Given the description of an element on the screen output the (x, y) to click on. 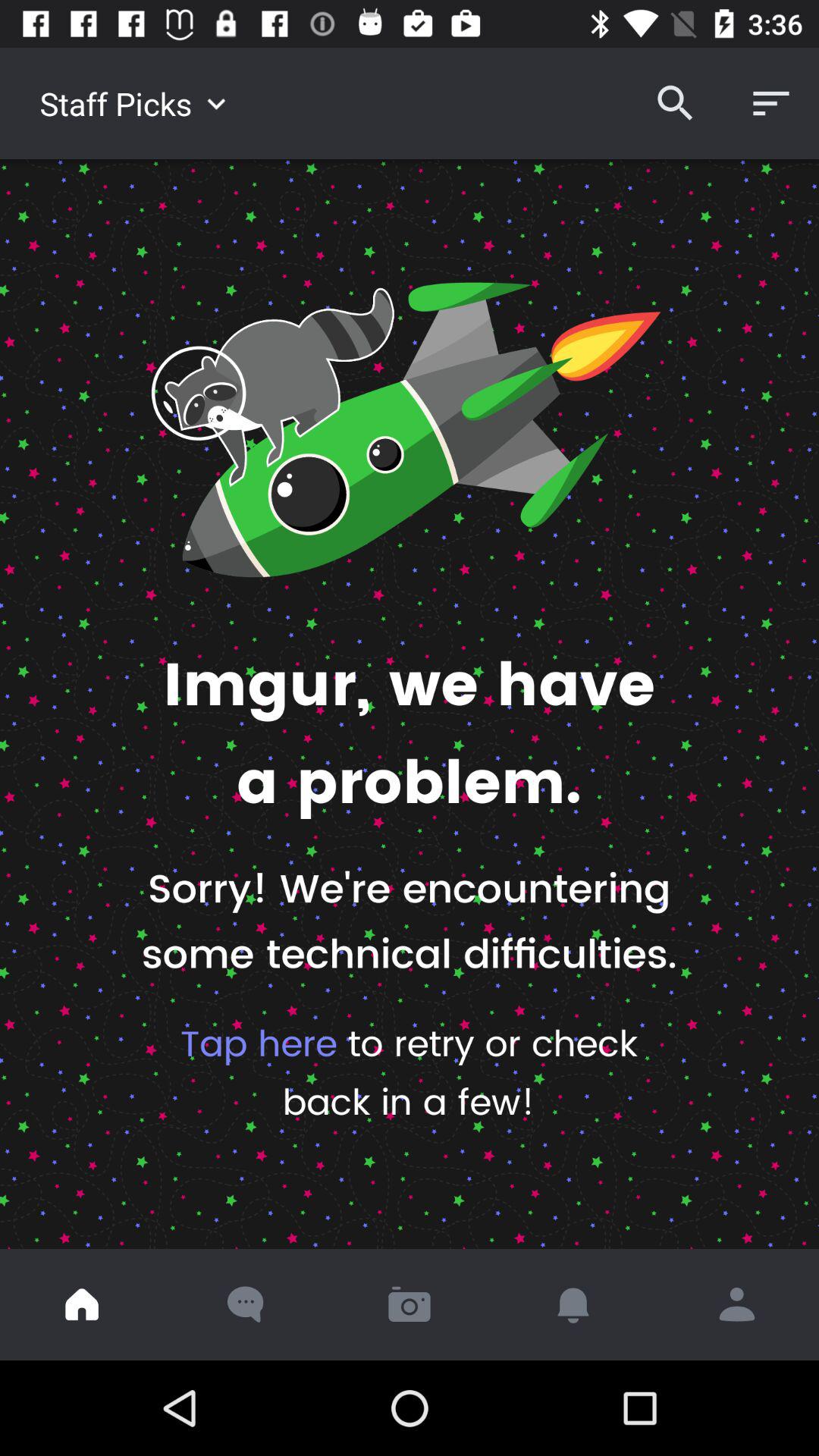
launch the icon below the tap here to (81, 1304)
